Given the description of an element on the screen output the (x, y) to click on. 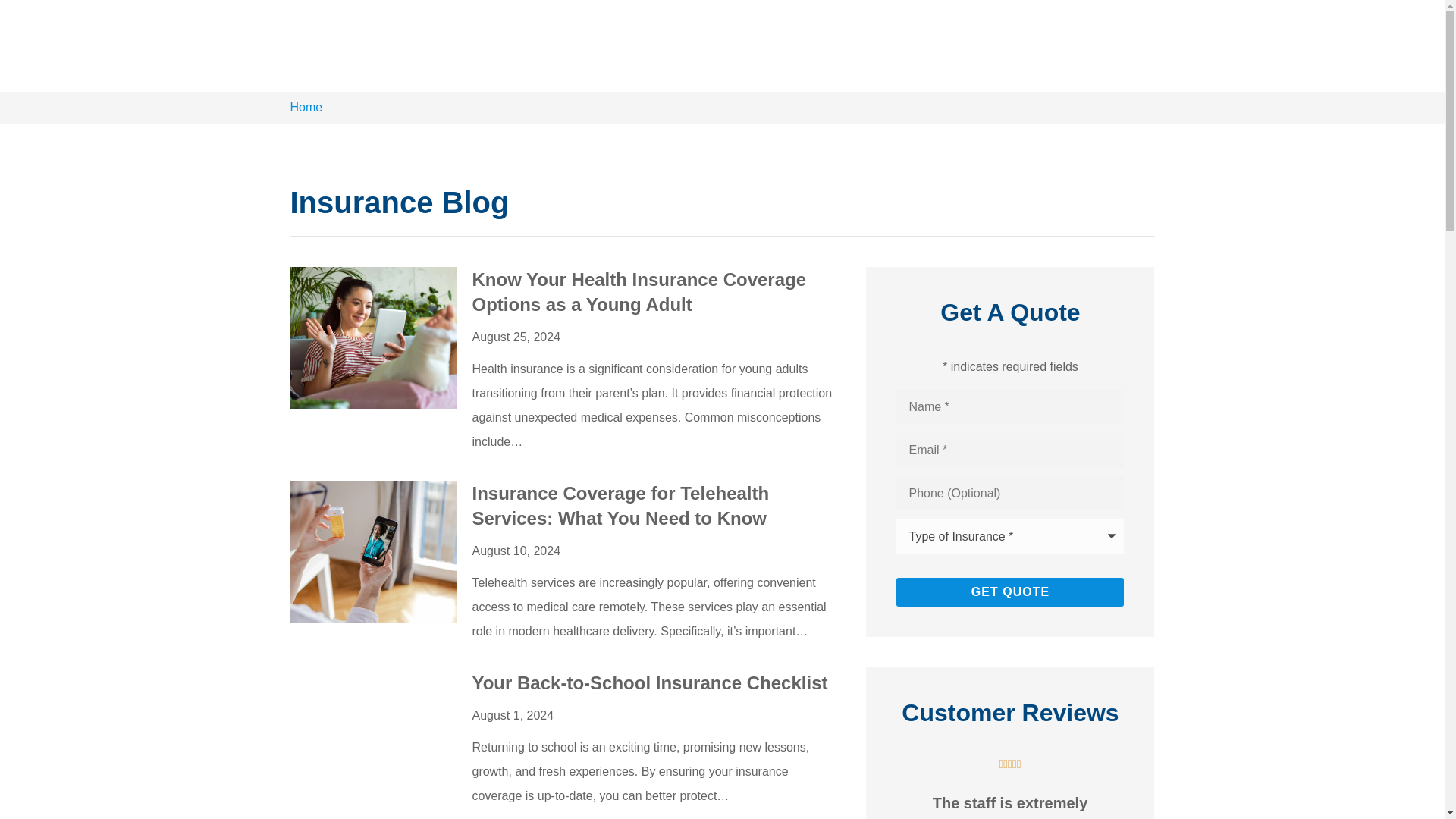
August 1 blog (373, 741)
Get Quote (1010, 592)
August 25th blog (373, 337)
August 10th blog (373, 551)
